Given the description of an element on the screen output the (x, y) to click on. 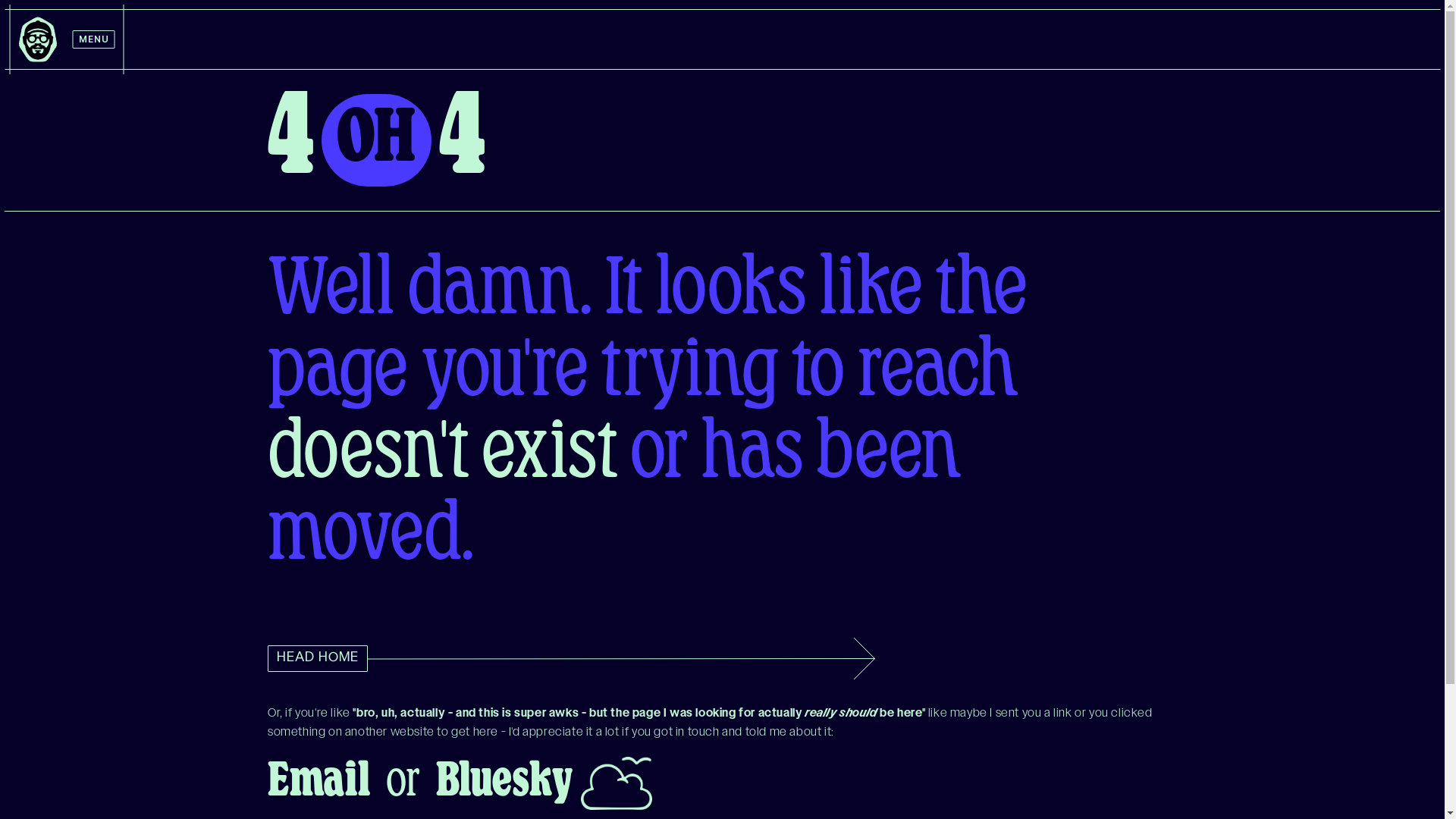
Email Element type: text (318, 782)
HEAD HOME Element type: text (316, 658)
Bluesky Element type: text (507, 782)
HEAD HOME Element type: text (721, 657)
